Given the description of an element on the screen output the (x, y) to click on. 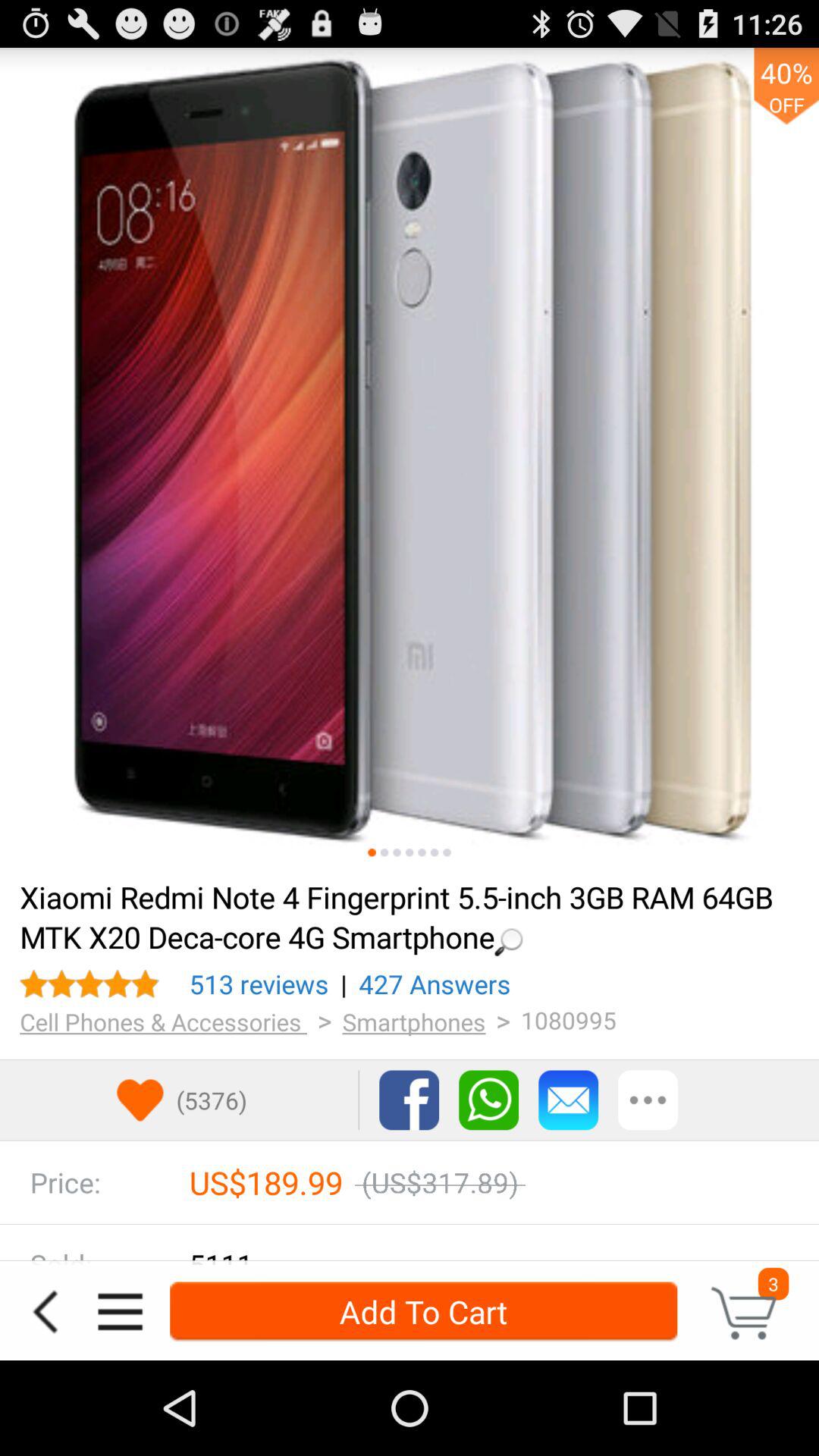
launch the icon to the left of add to cart icon (120, 1311)
